Given the description of an element on the screen output the (x, y) to click on. 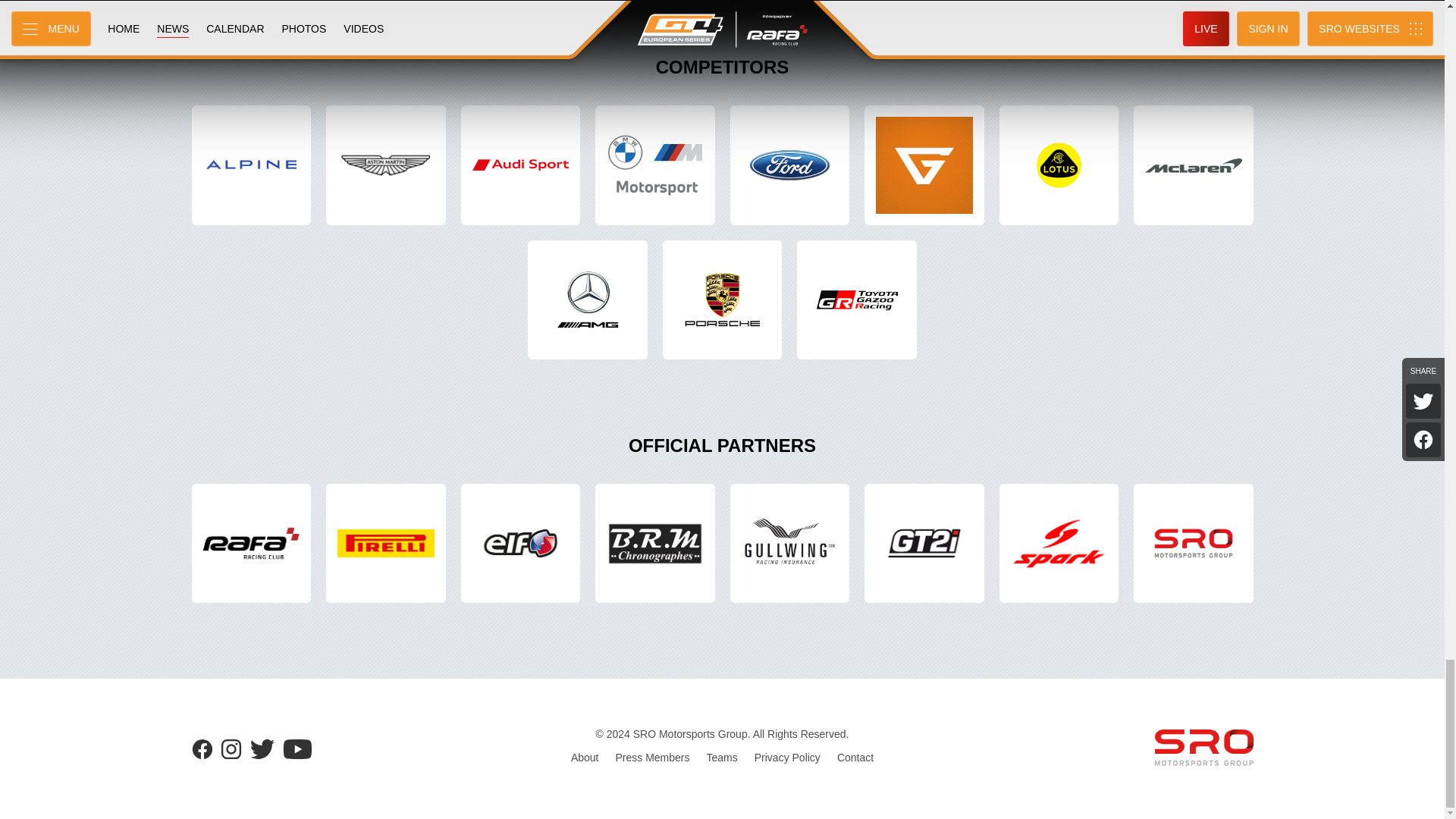
BMW (654, 165)
BRM (654, 543)
Toyota (856, 300)
McLaren (1193, 165)
Lotus (1058, 165)
SRO (1193, 543)
Ginetta (924, 165)
GT2i (924, 543)
Mercedes-AMG (587, 300)
Alpine (250, 165)
